Given the description of an element on the screen output the (x, y) to click on. 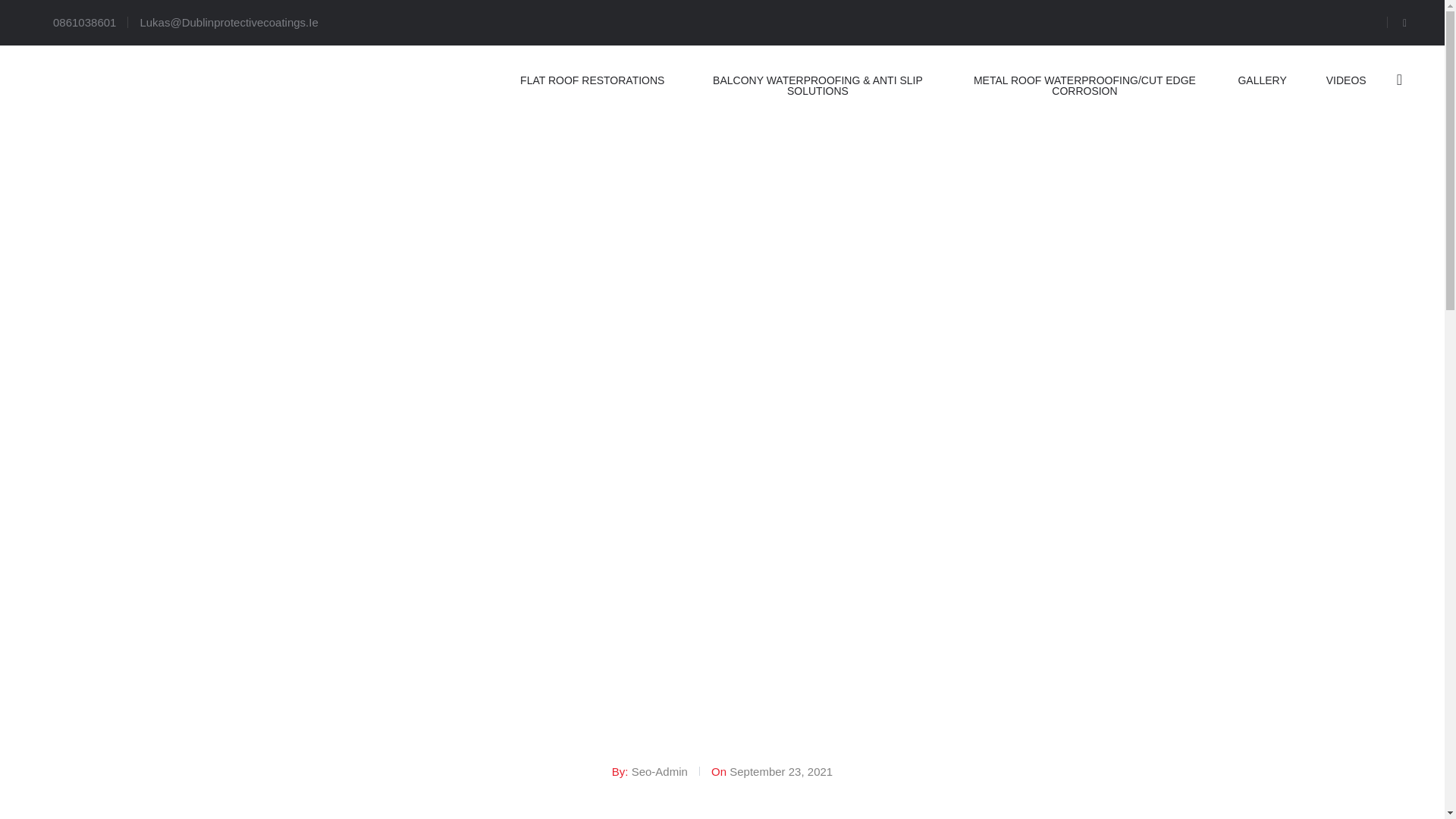
FLAT ROOF RESTORATIONS (591, 79)
Flat Roof Restorations (591, 79)
Seo-Admin (659, 771)
September 23, 2021 (780, 771)
Home (792, 656)
Title (113, 136)
Uncategorized (865, 656)
